Given the description of an element on the screen output the (x, y) to click on. 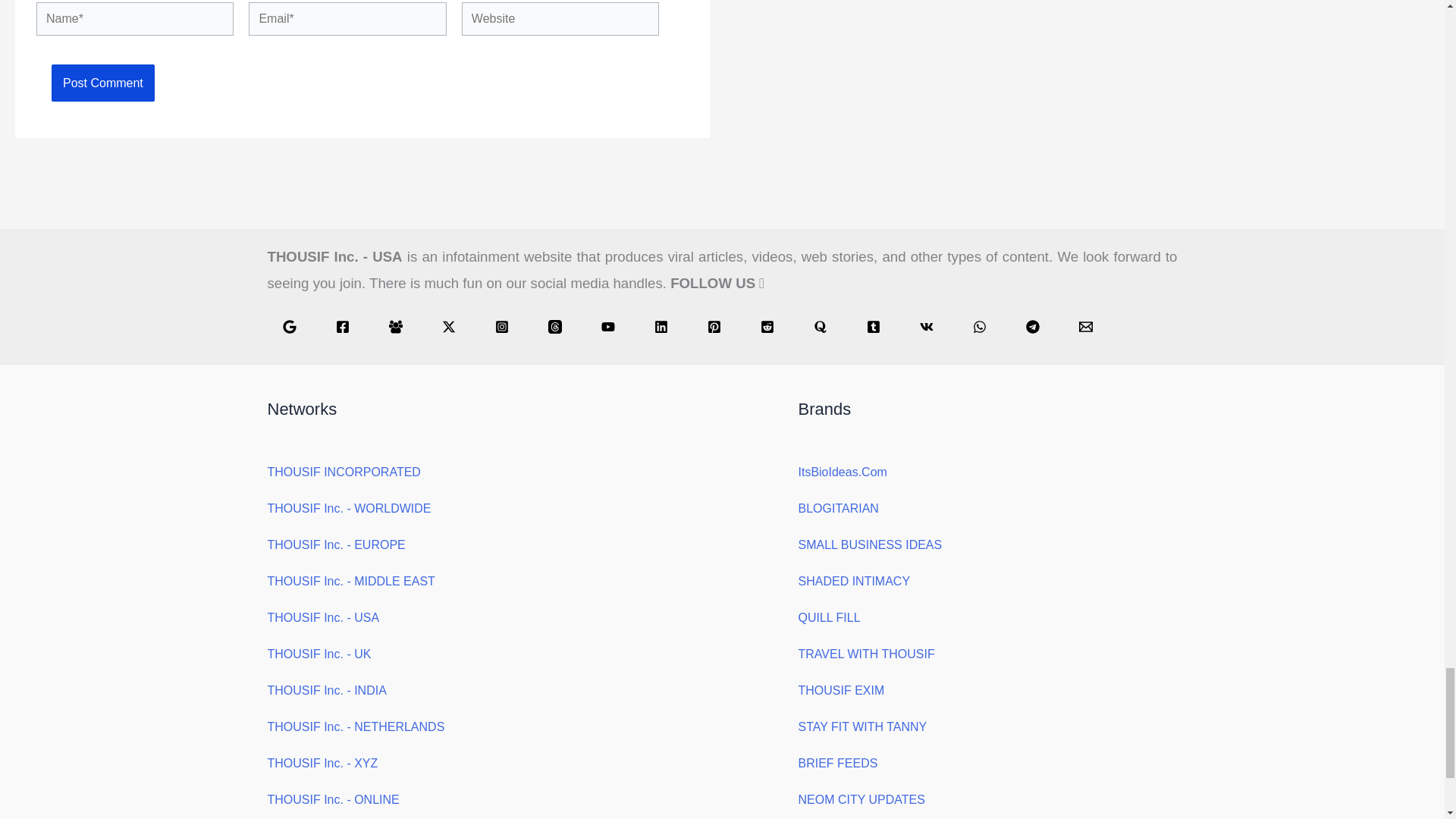
Post Comment (102, 83)
